Given the description of an element on the screen output the (x, y) to click on. 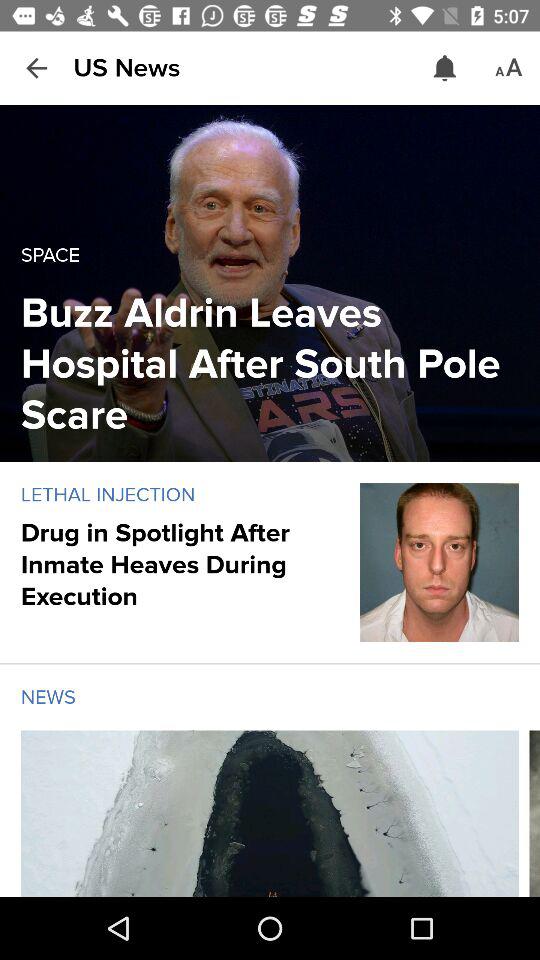
open news (270, 813)
